Given the description of an element on the screen output the (x, y) to click on. 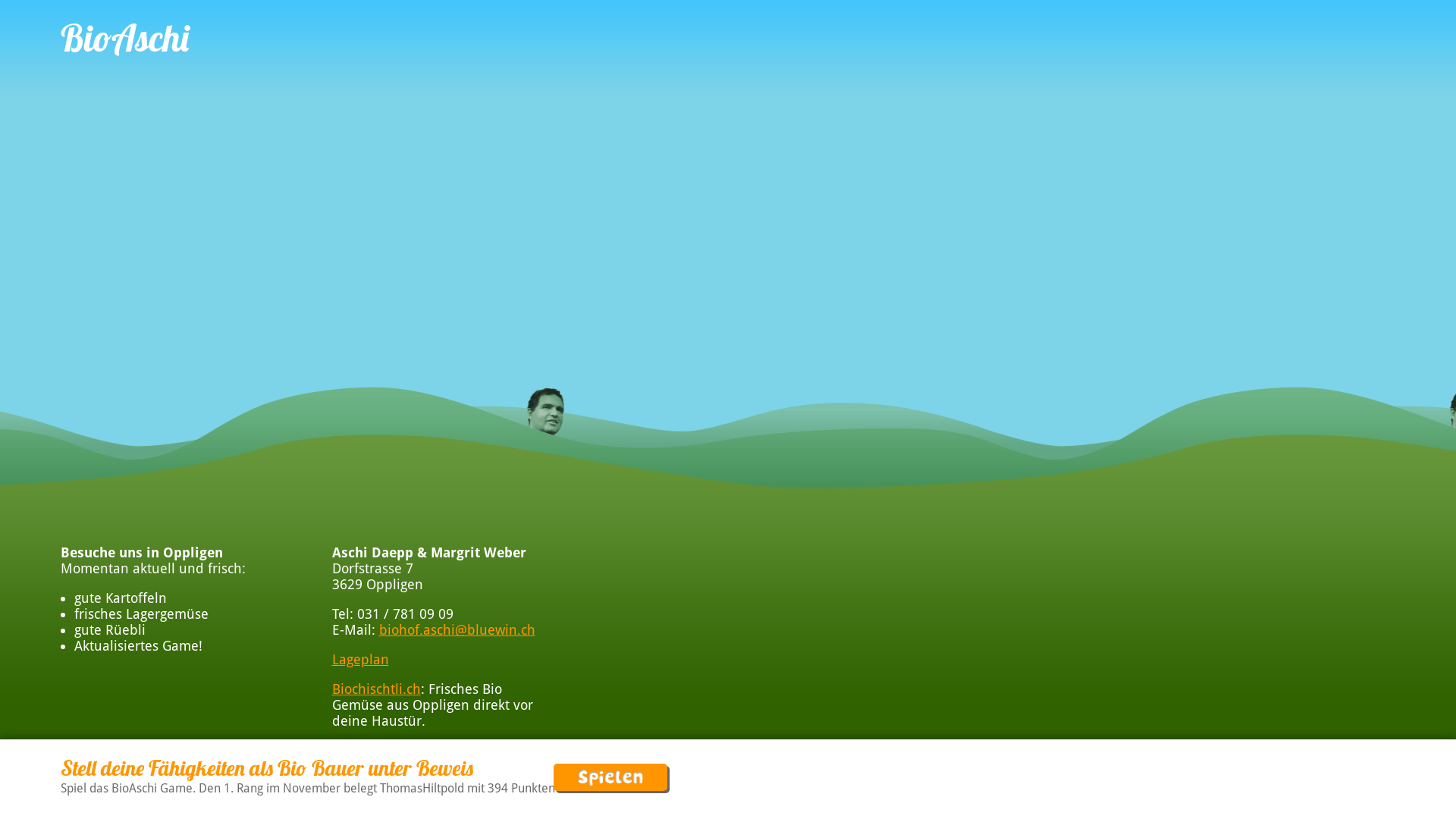
biohof.aschi@bluewin.ch Element type: text (457, 629)
Biochischtli.ch Element type: text (376, 688)
Lageplan Element type: text (360, 659)
